Given the description of an element on the screen output the (x, y) to click on. 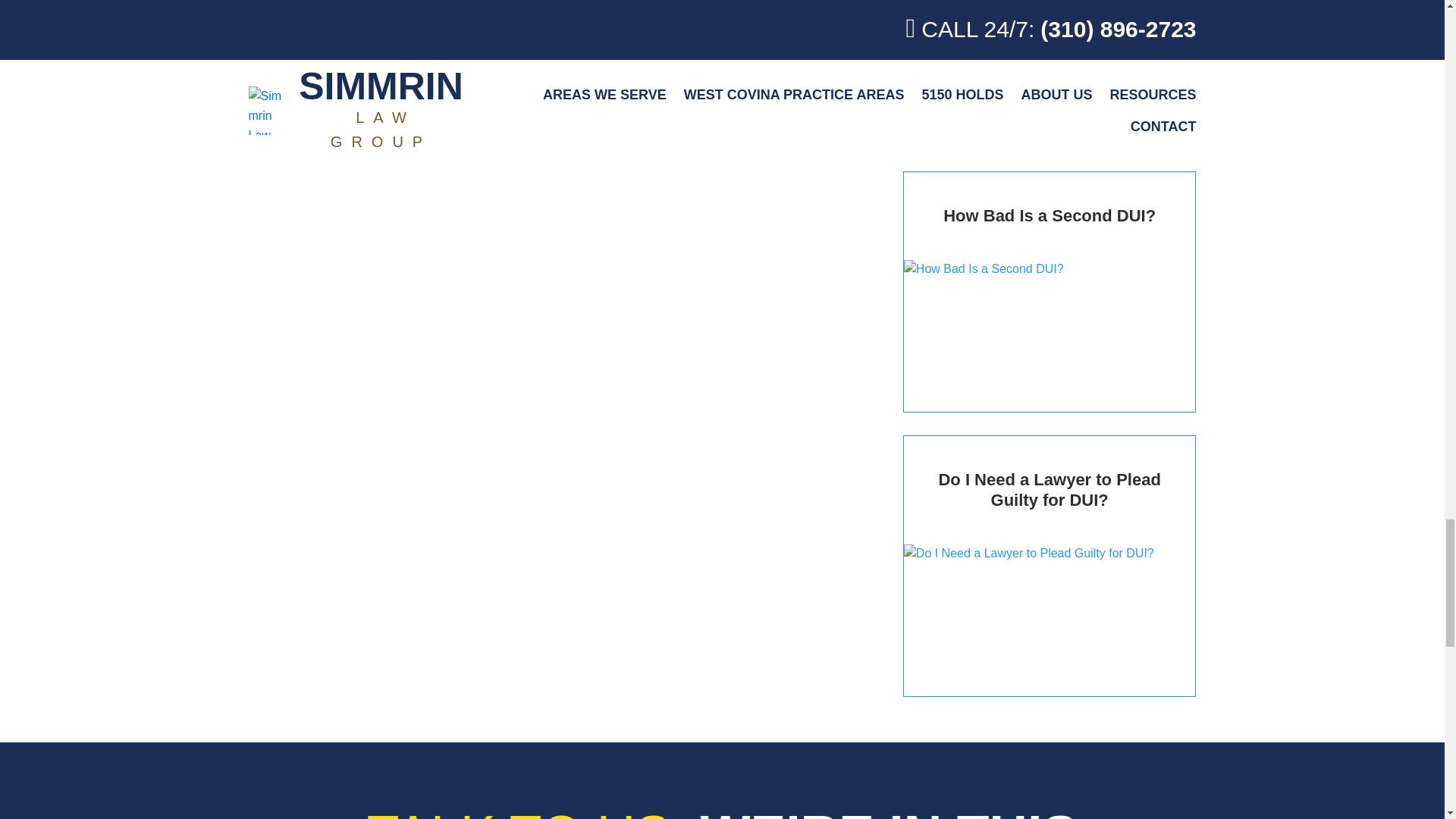
How Bad Is a Second DUI? (1049, 291)
Why Can Some People Drink More Than Others And Avoid A DUI? (1049, 74)
Do I Need a Lawyer to Plead Guilty for DUI? (1049, 565)
